Given the description of an element on the screen output the (x, y) to click on. 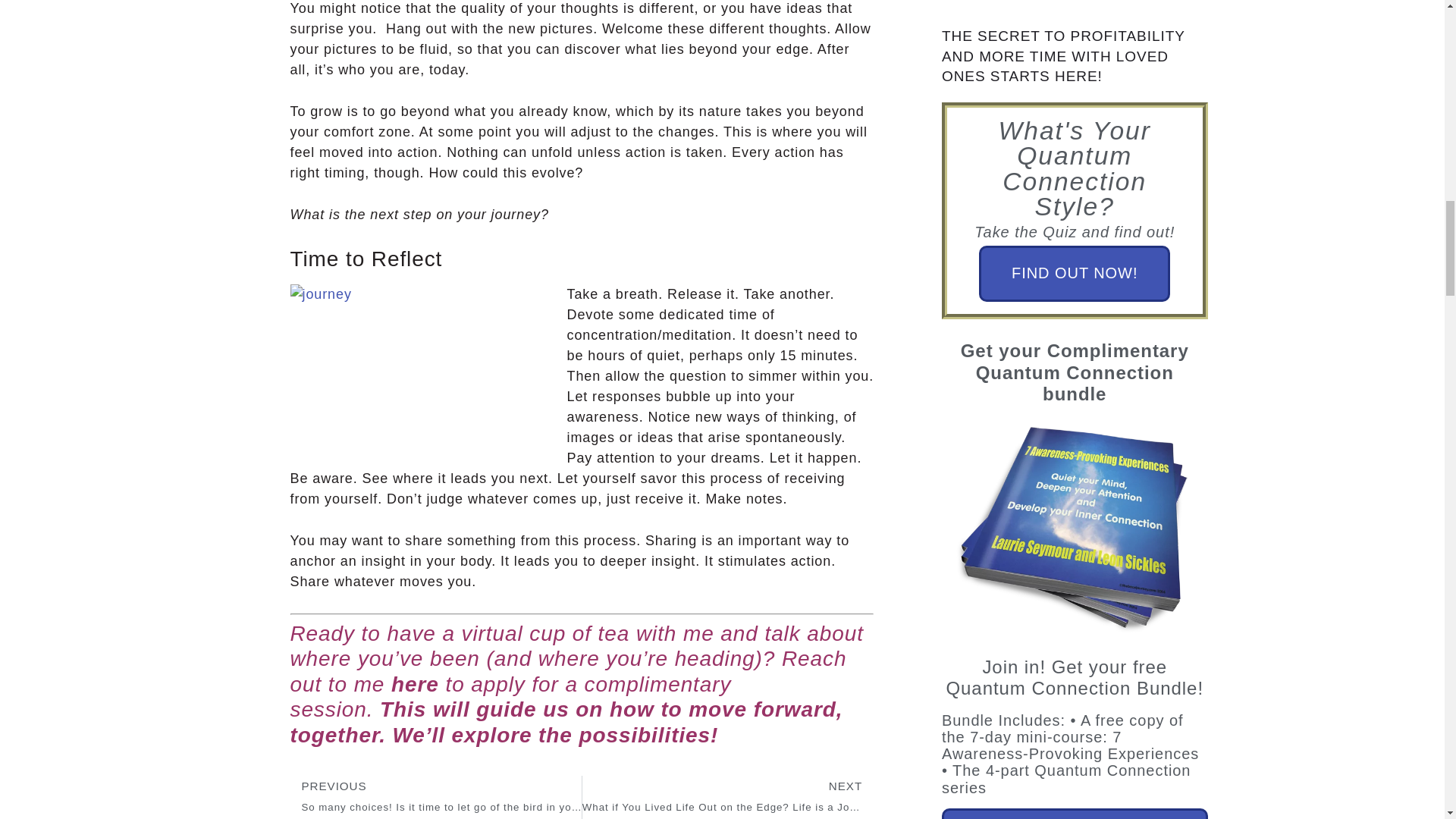
here (415, 684)
